Given the description of an element on the screen output the (x, y) to click on. 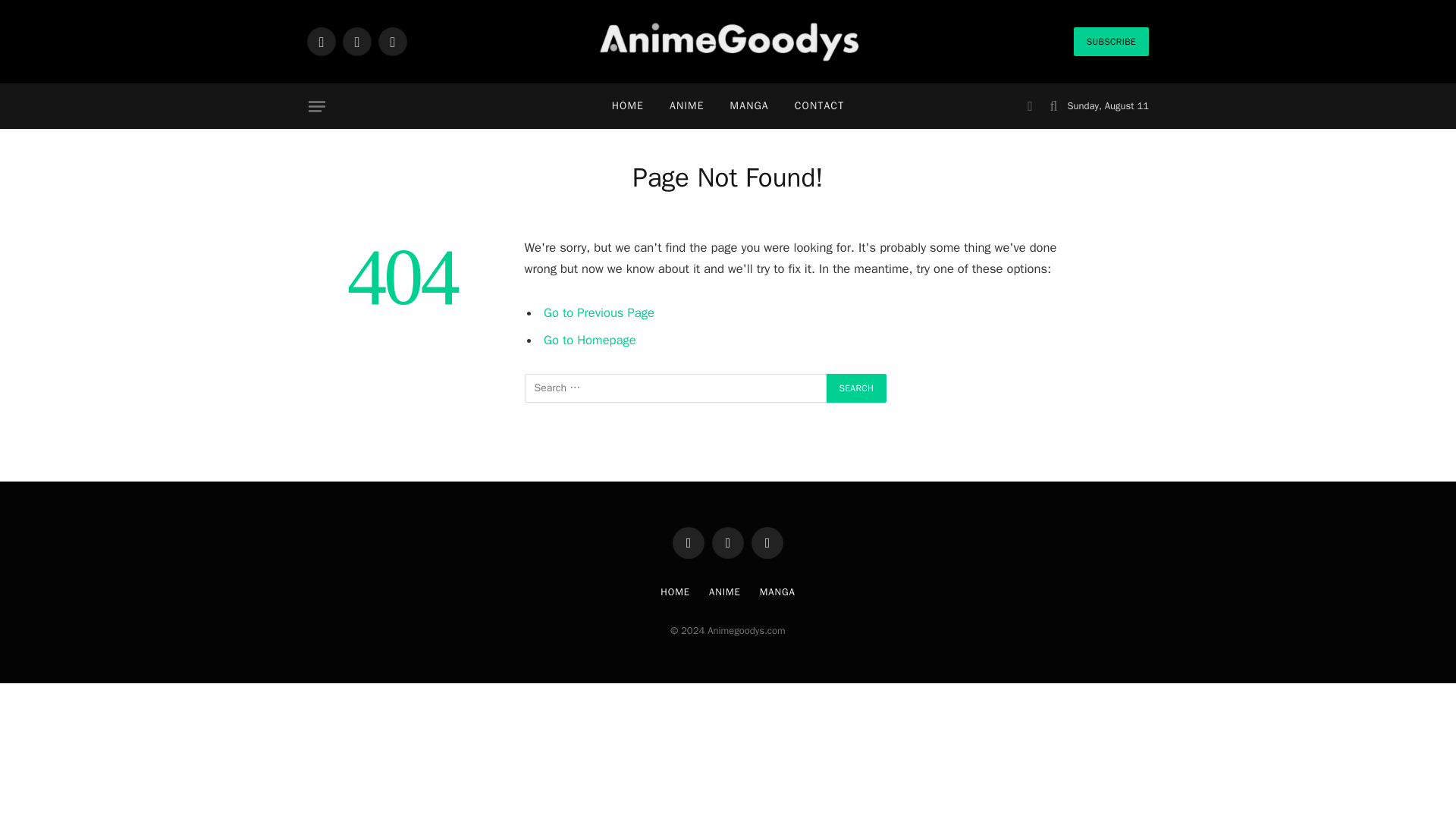
Search (856, 387)
Switch to Dark Design - easier on eyes. (1029, 106)
HOME (627, 105)
Instagram (392, 41)
HOME (675, 591)
CONTACT (819, 105)
MANGA (749, 105)
ANIME (686, 105)
Go to Previous Page (598, 312)
Pinterest (767, 542)
